Given the description of an element on the screen output the (x, y) to click on. 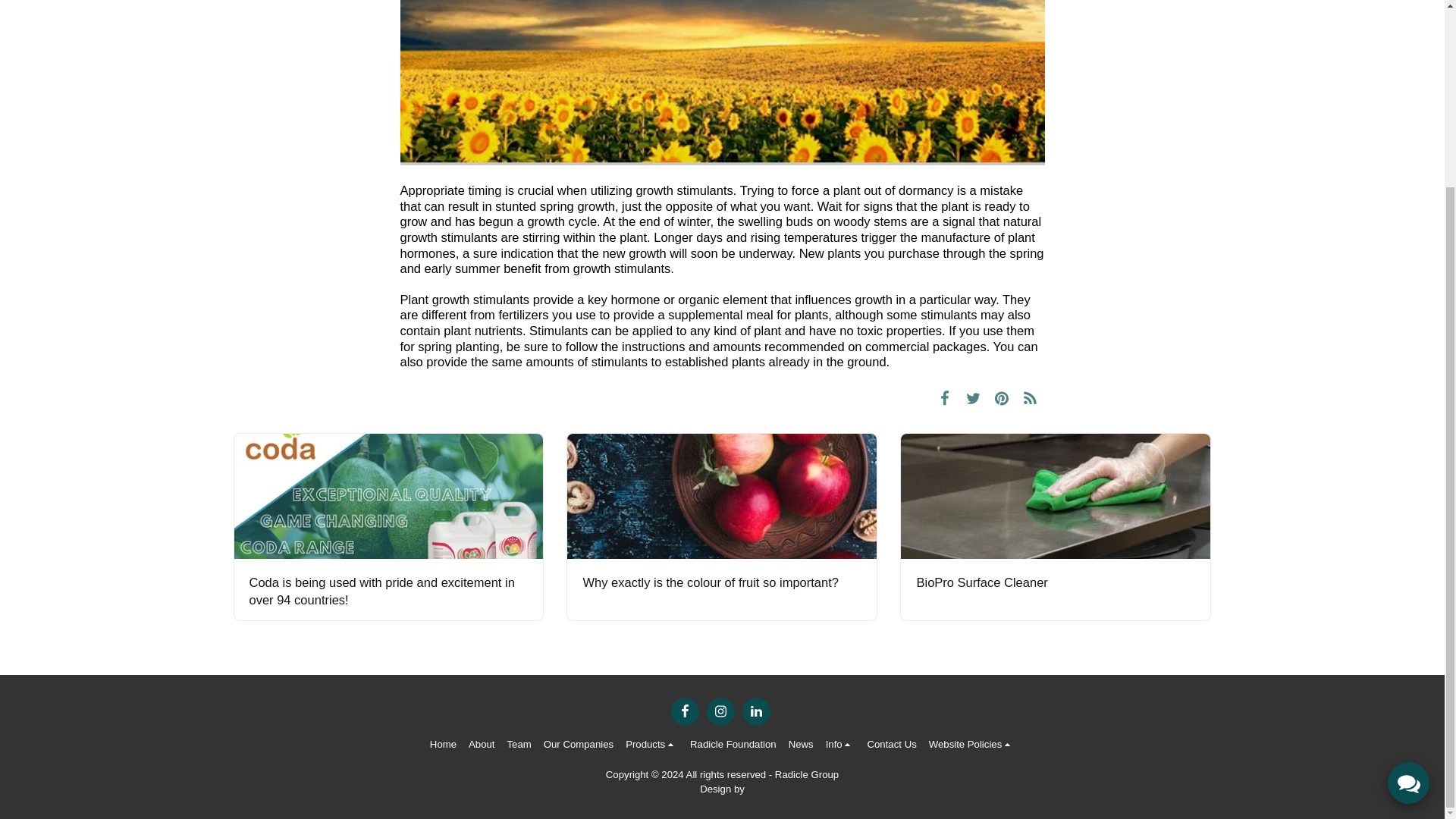
Share on Facebook (945, 397)
Pin it (1002, 397)
RSS (1029, 397)
Tweet (973, 397)
